Given the description of an element on the screen output the (x, y) to click on. 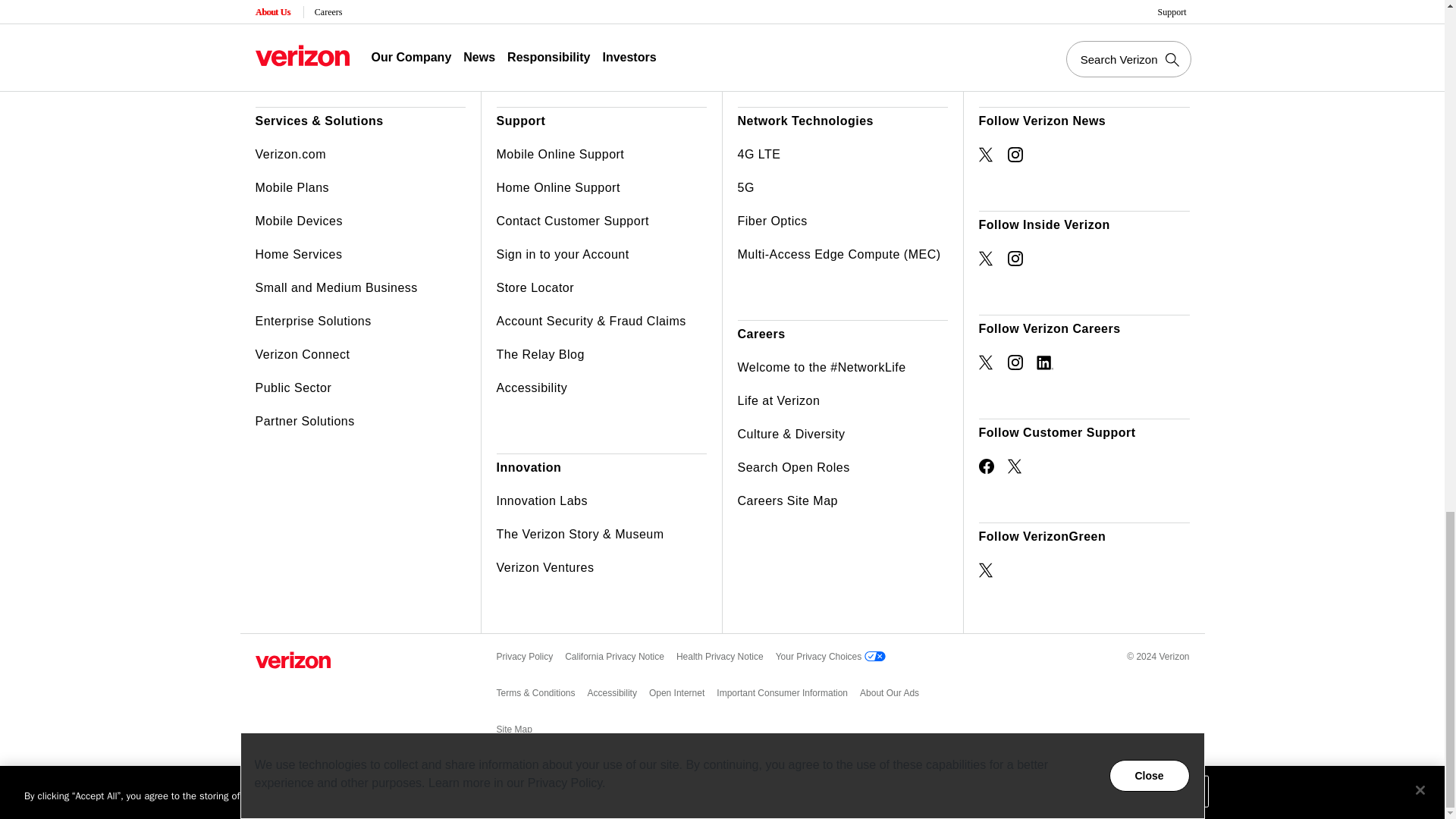
Opens New Window (985, 362)
Opens New Window (1014, 466)
Opens New Window (985, 570)
Opens New Window (1043, 362)
Opens New Window (985, 466)
Verizon Home Page (292, 659)
Opens New Window (1014, 154)
Opens New Window (1014, 258)
Opens New Window (1014, 362)
Opens New Window (985, 258)
Opens New Window (985, 154)
